Given the description of an element on the screen output the (x, y) to click on. 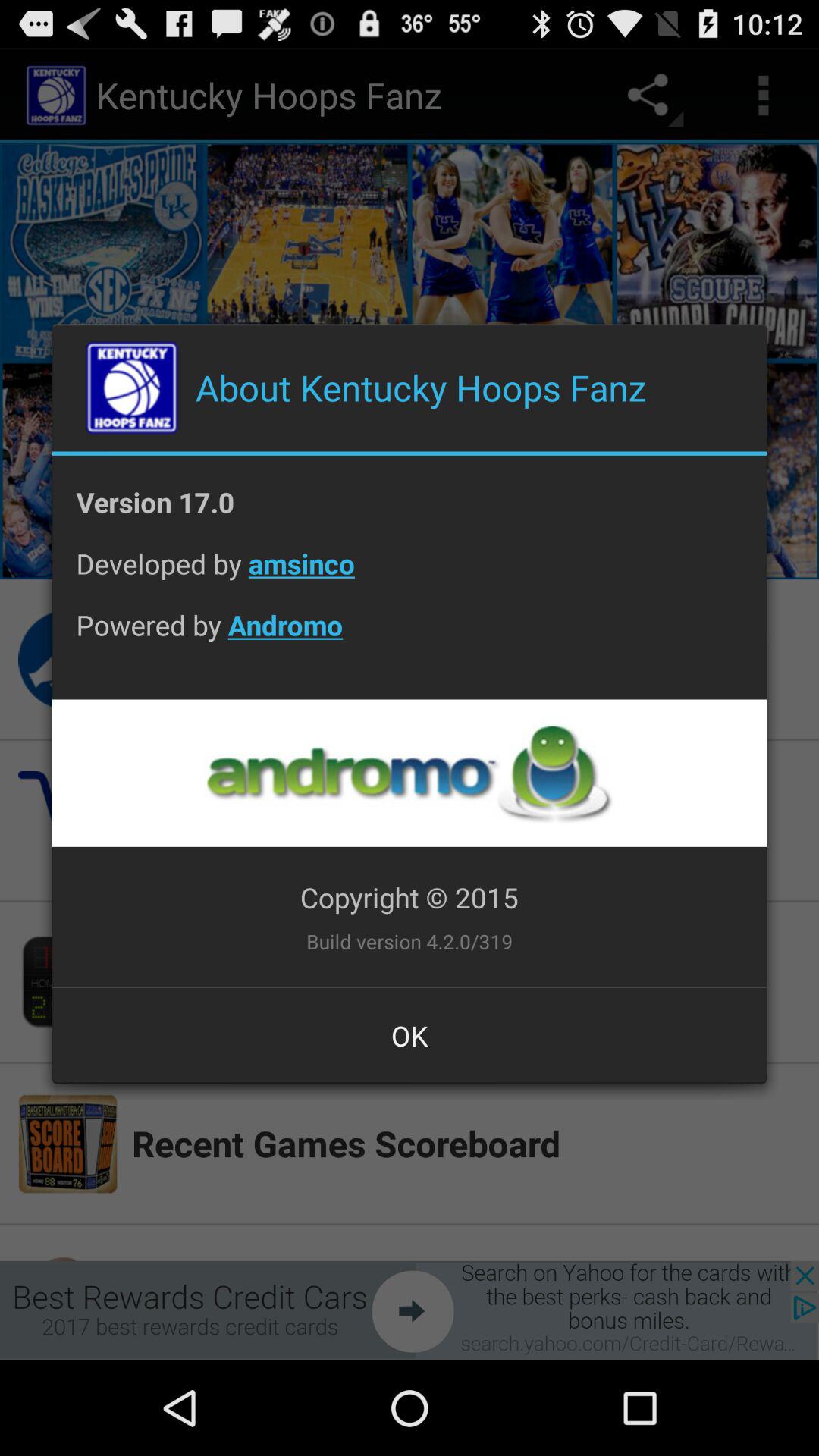
jump to ok (409, 1035)
